Given the description of an element on the screen output the (x, y) to click on. 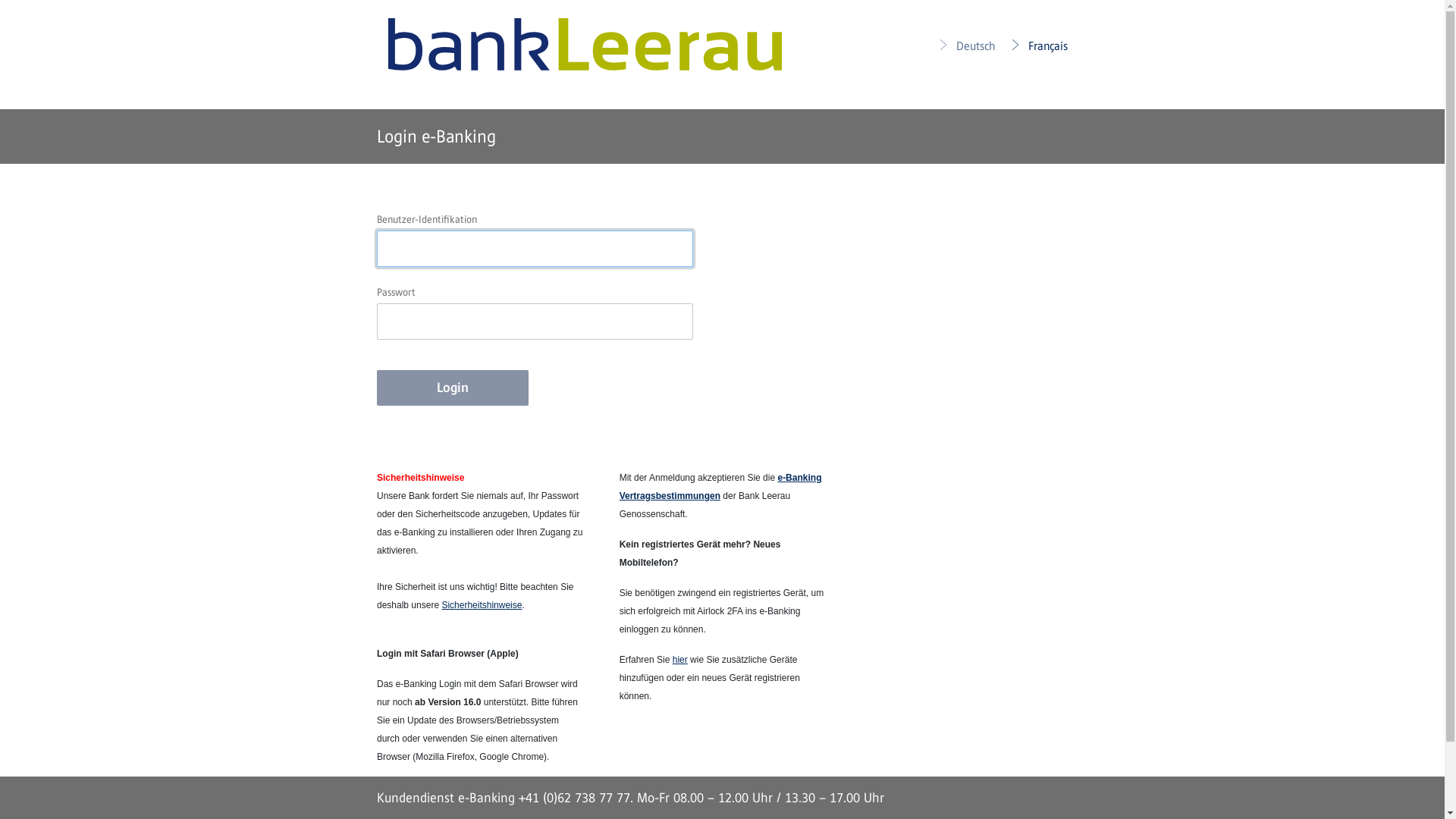
Login Element type: text (452, 387)
hier Element type: text (679, 659)
Sicherheitshinweise Element type: text (481, 604)
Remote Support Element type: text (409, 805)
e-Banking Vertragsbestimmungen Element type: text (720, 486)
Deutsch Element type: text (966, 45)
